Given the description of an element on the screen output the (x, y) to click on. 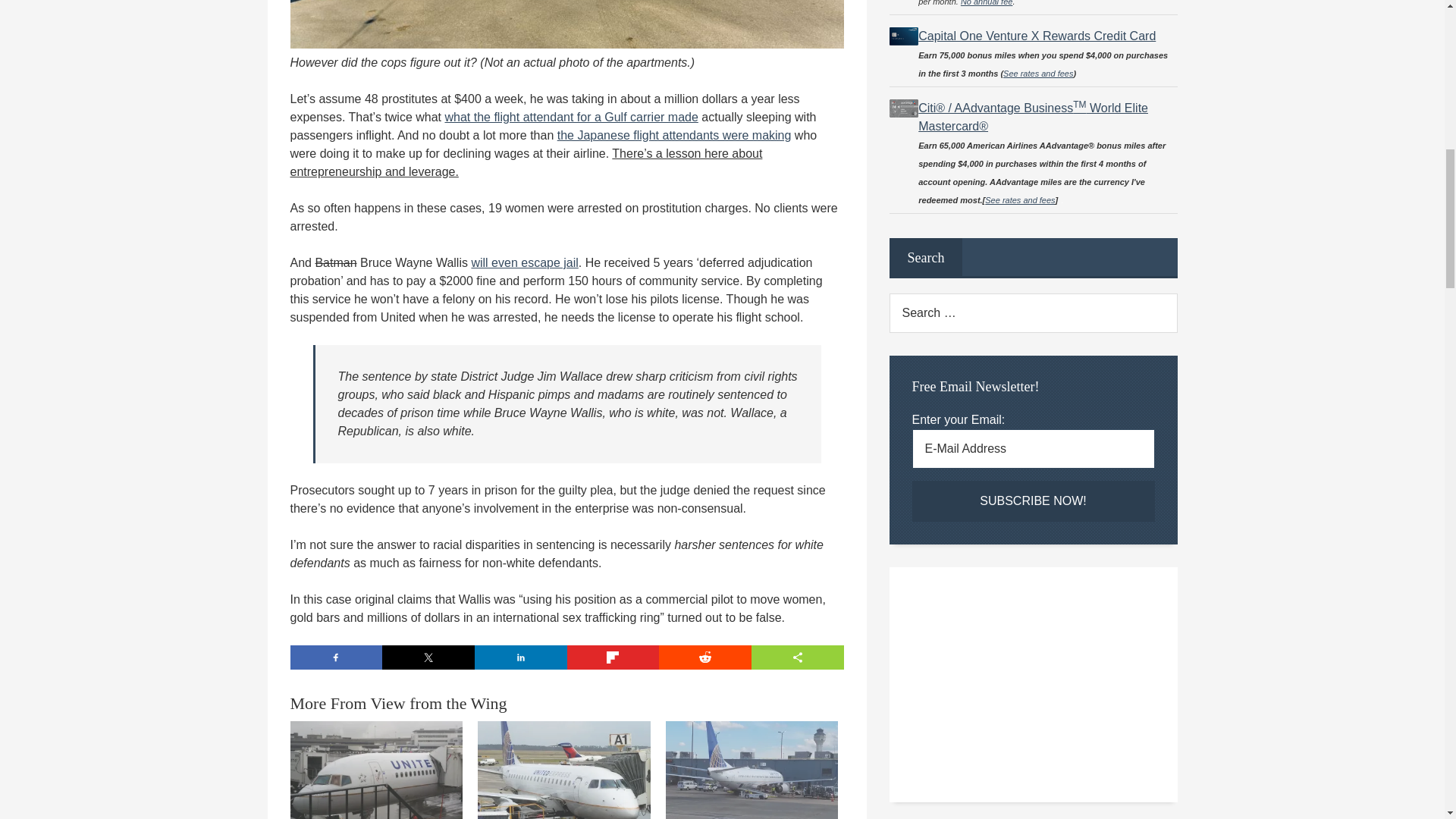
Subscribe Now! (1032, 500)
the Japanese flight attendants were making (674, 134)
will even escape jail (524, 262)
E-Mail Address (1032, 448)
what the flight attendant for a Gulf carrier made (570, 116)
